Given the description of an element on the screen output the (x, y) to click on. 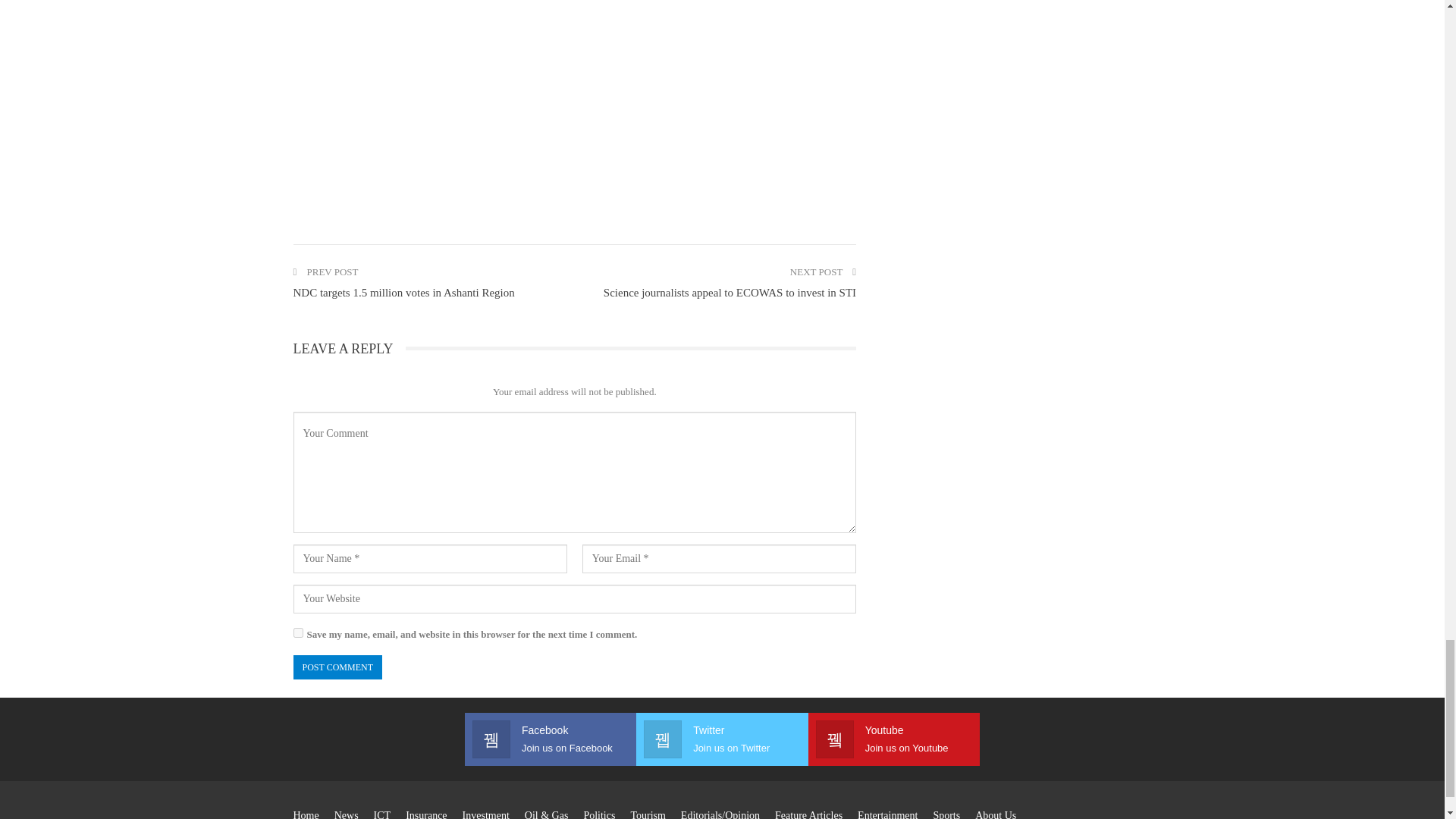
NDC targets 1.5 million votes in Ashanti Region (402, 292)
Science journalists appeal to ECOWAS to invest in STI (730, 292)
Post Comment (336, 667)
Post Comment (336, 667)
yes (297, 633)
